Given the description of an element on the screen output the (x, y) to click on. 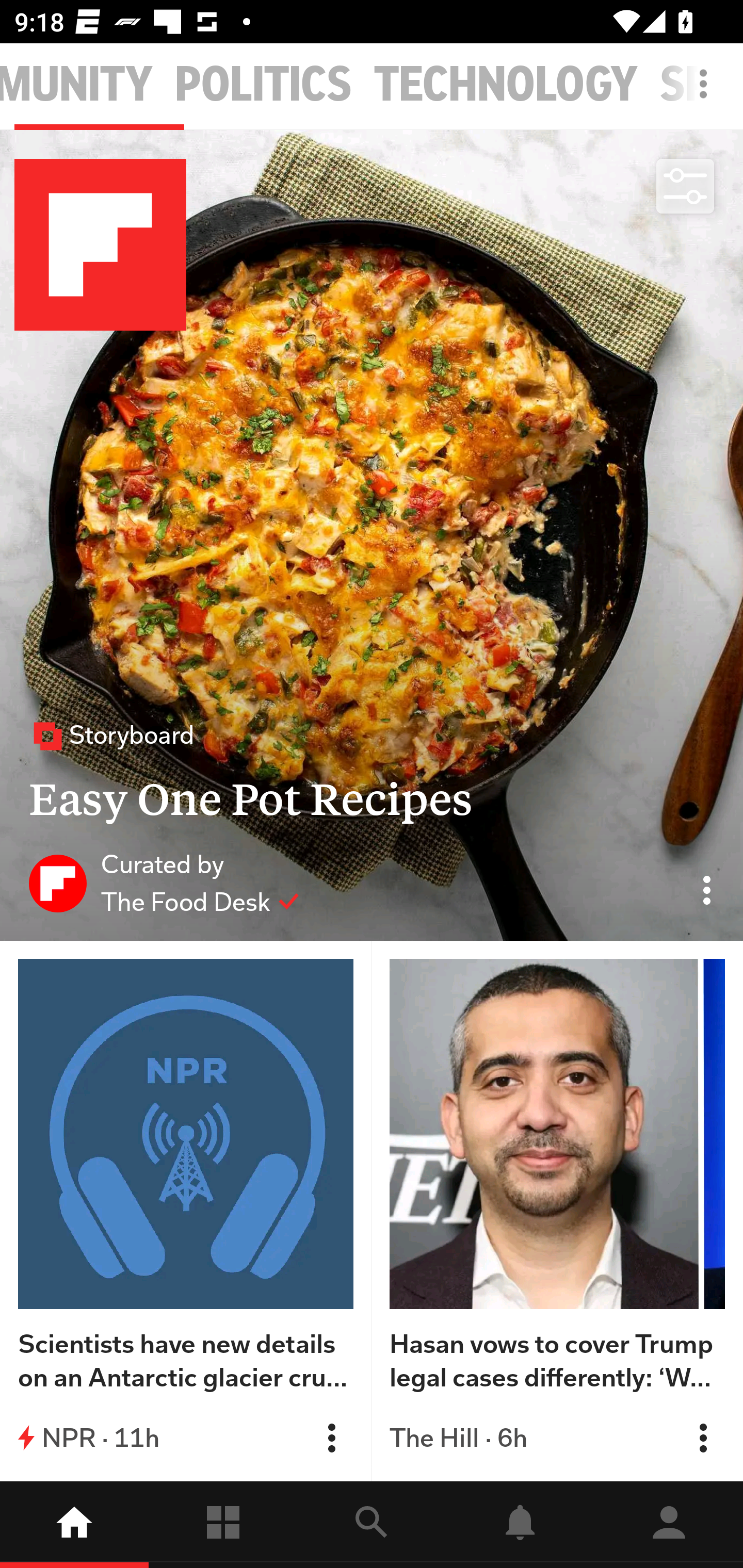
POLITICS (263, 84)
TECHNOLOGY (505, 84)
More options (706, 93)
Curated by The Food Desk (163, 882)
NPR · 11h Flip into Magazine (185, 1437)
The Hill · 6h Flip into Magazine (557, 1437)
Flip into Magazine (331, 1437)
Flip into Magazine (703, 1437)
home (74, 1524)
Following (222, 1524)
explore (371, 1524)
Notifications (519, 1524)
Profile (668, 1524)
